Given the description of an element on the screen output the (x, y) to click on. 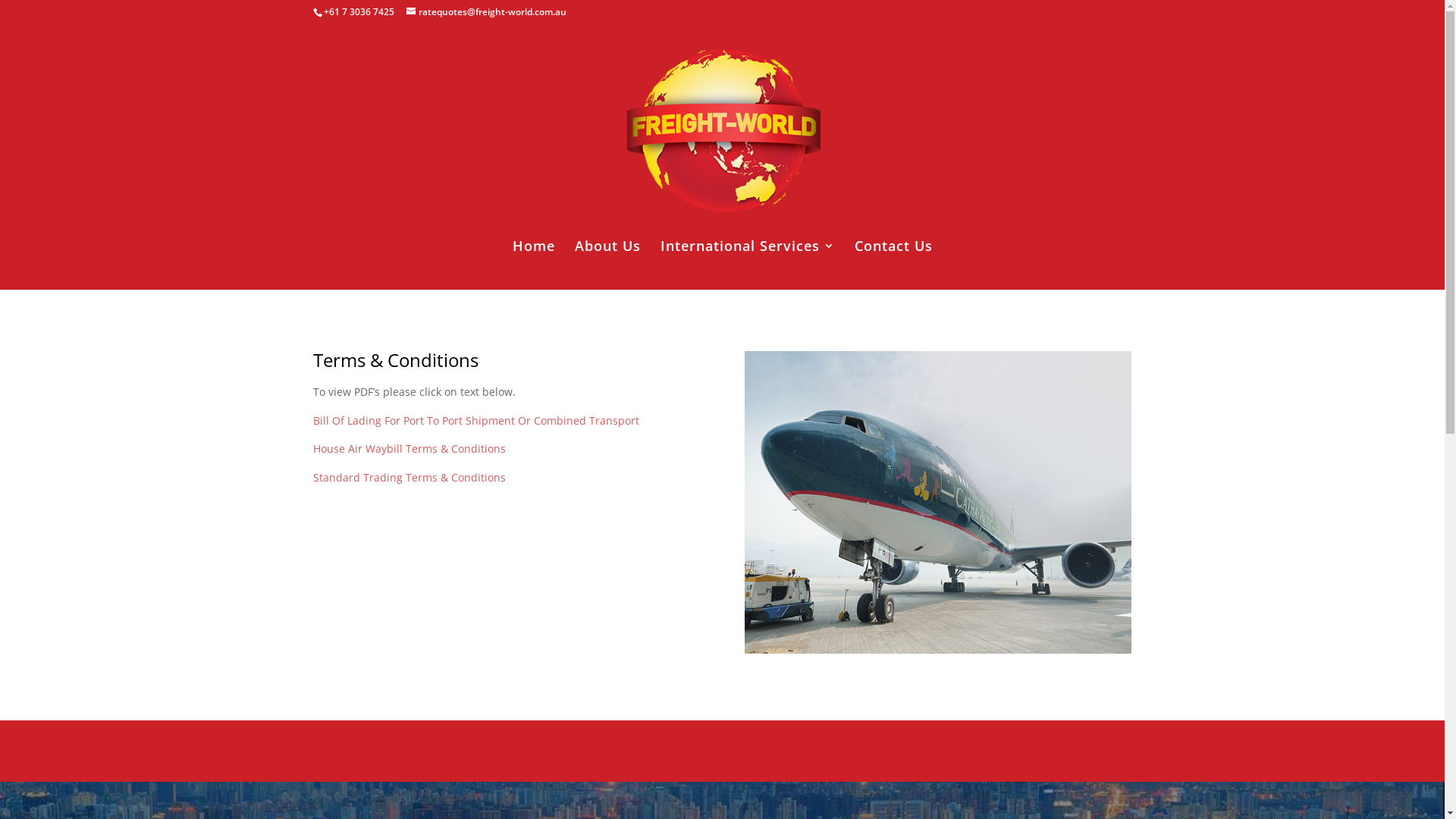
International Services Element type: text (746, 264)
House Air Waybill Terms & Conditions Element type: text (408, 448)
Standard Trading Terms & Conditions Element type: text (408, 477)
Home Element type: text (533, 264)
+61 7 3036 7425 Element type: text (358, 11)
ratequotes@freight-world.com.au Element type: text (486, 11)
About Us Element type: text (607, 264)
Contact Us Element type: text (892, 264)
